Given the description of an element on the screen output the (x, y) to click on. 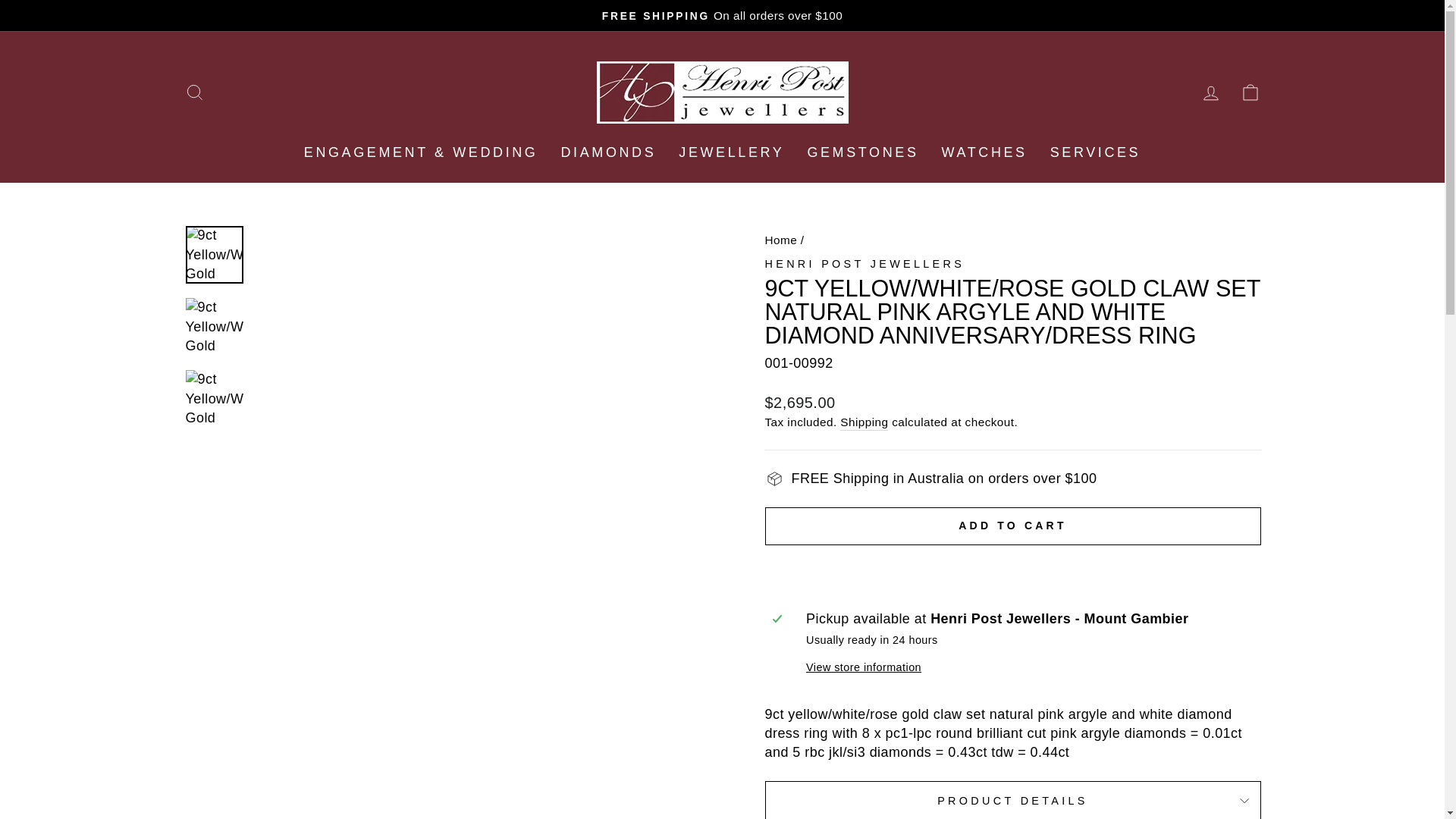
Henri Post Jewellers (863, 263)
Back to the frontpage (780, 239)
